Given the description of an element on the screen output the (x, y) to click on. 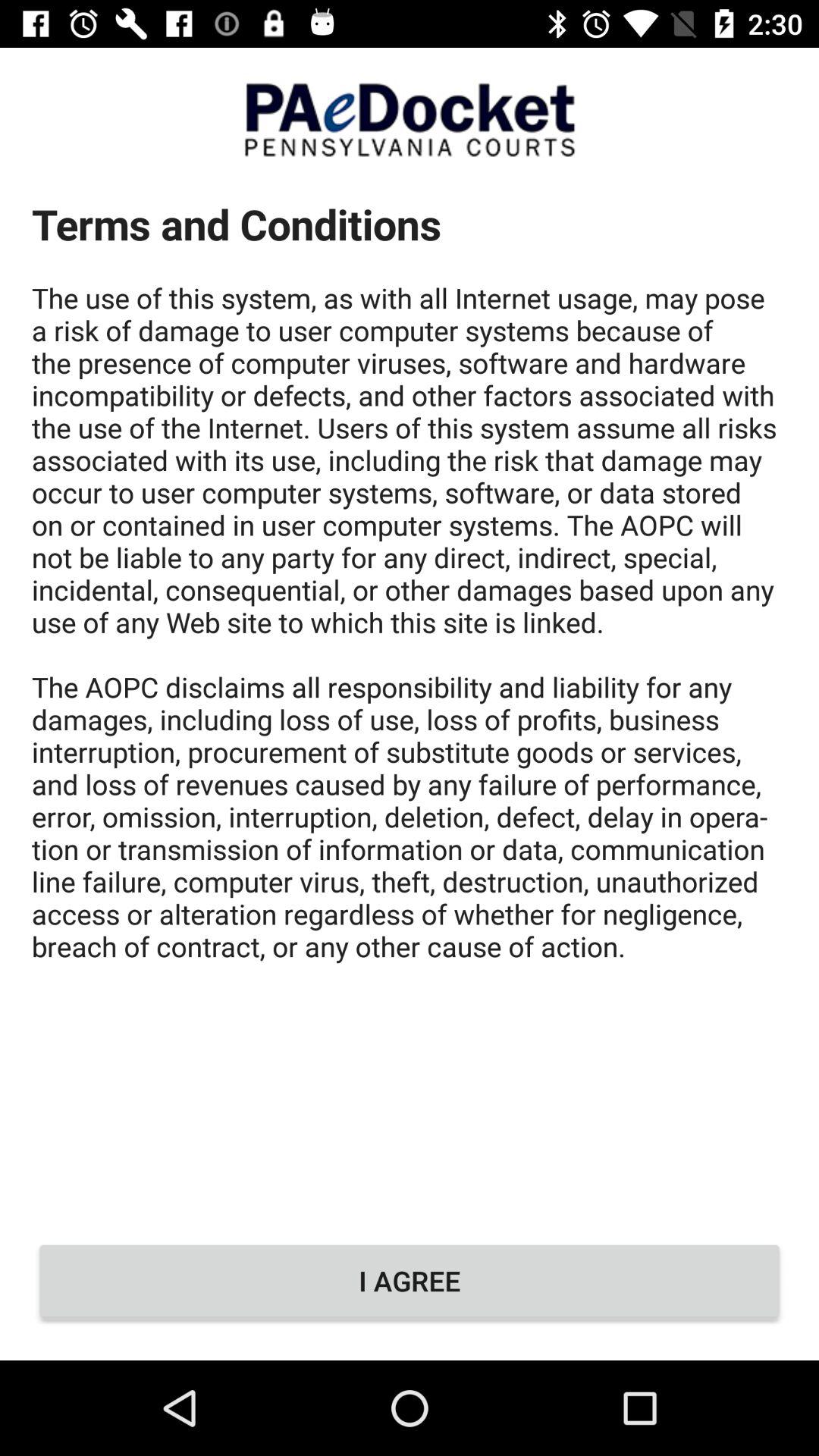
open the item below terms and conditions item (409, 1280)
